Given the description of an element on the screen output the (x, y) to click on. 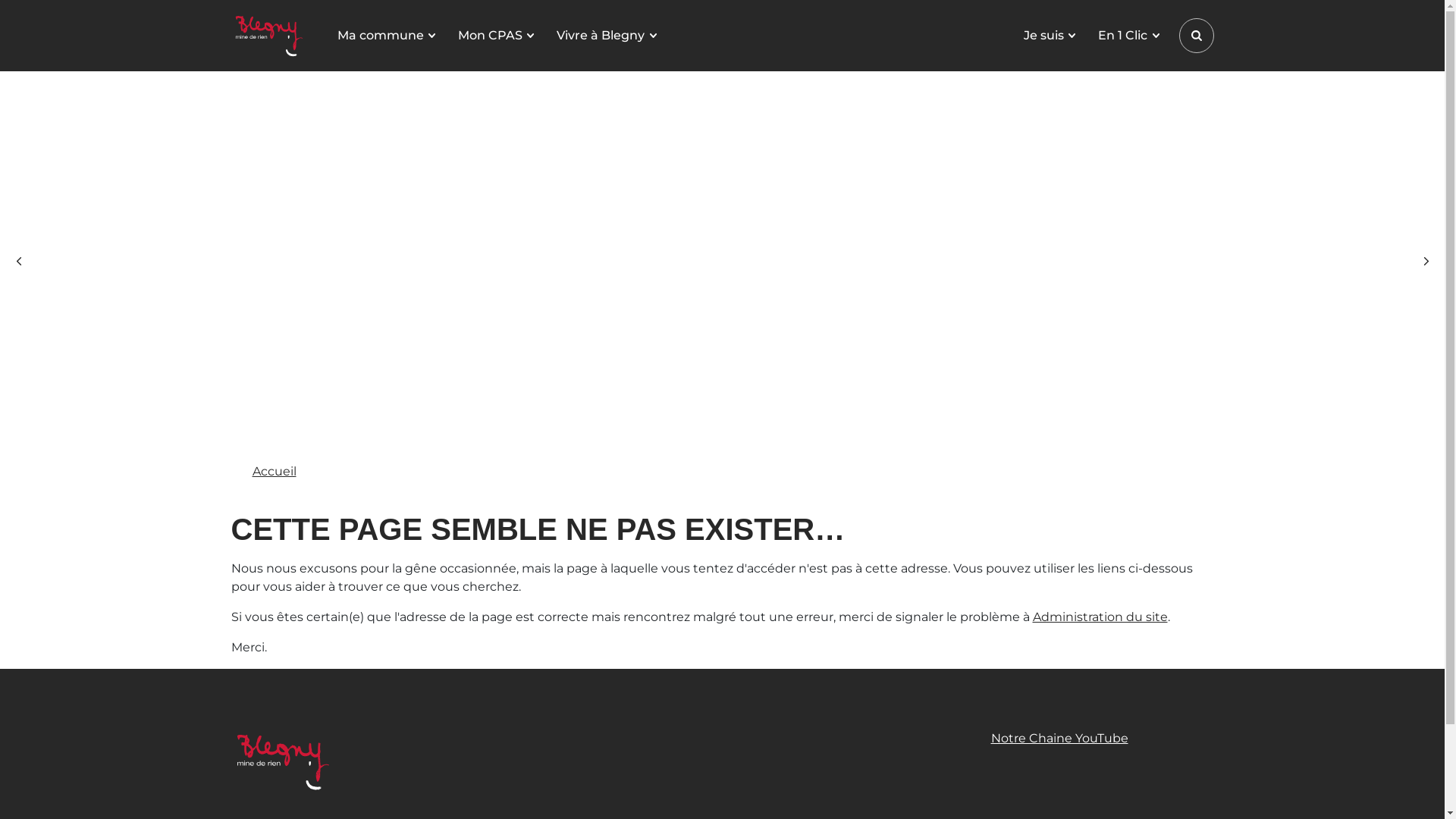
Notre Chaine YouTube Element type: text (1097, 738)
En 1 Clic Element type: text (1128, 35)
Mon CPAS Element type: text (495, 35)
Accueil Element type: text (273, 471)
Ma commune Element type: text (385, 35)
Rechercher Element type: text (1195, 35)
Administration du site Element type: text (1099, 616)
Je suis Element type: text (1049, 35)
